Given the description of an element on the screen output the (x, y) to click on. 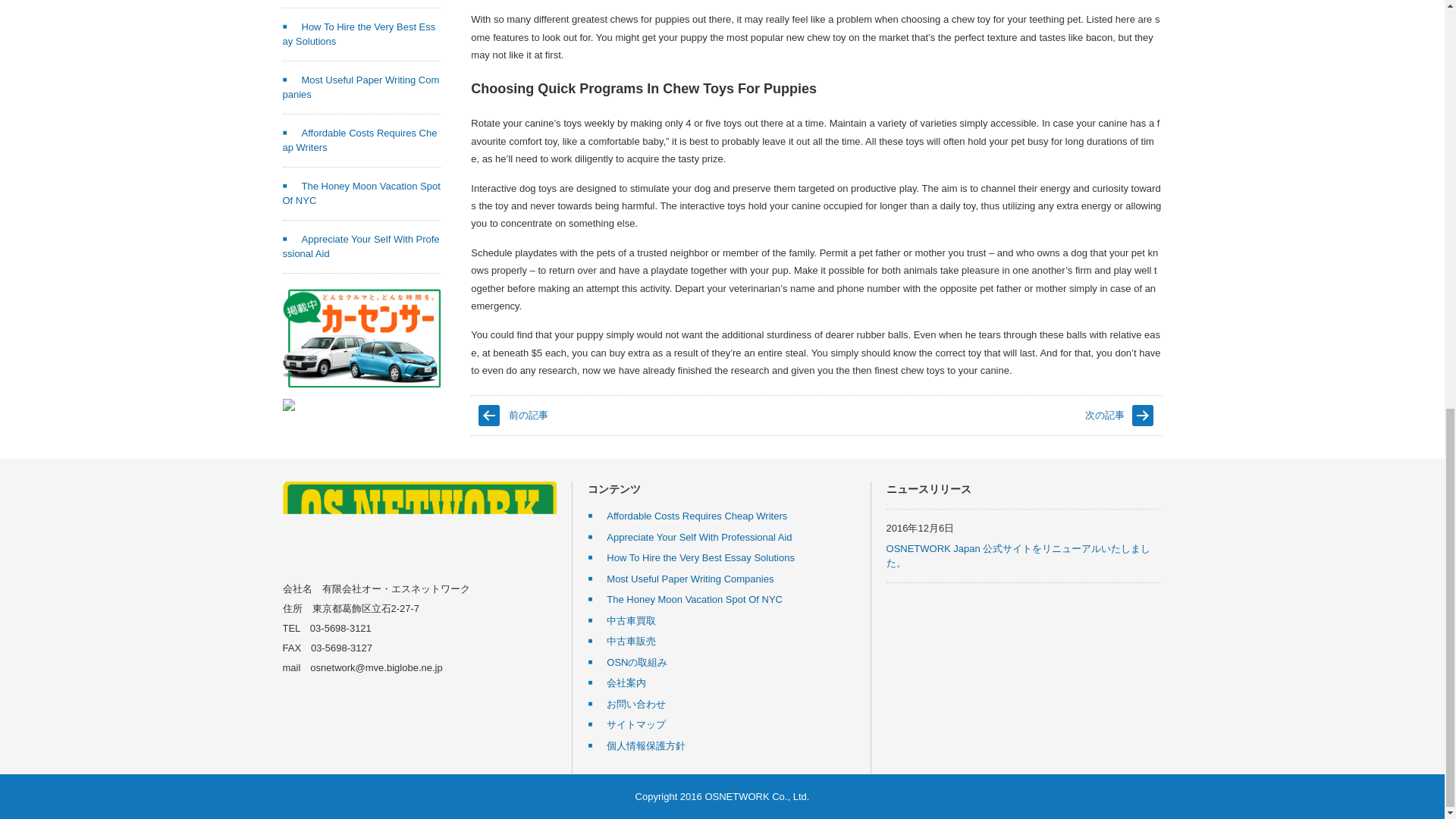
Affordable Costs Requires Cheap Writers (687, 515)
The Honey Moon Vacation Spot Of NYC (360, 193)
Most Useful Paper Writing Companies (360, 87)
How To Hire the Very Best Essay Solutions (358, 34)
Affordable Costs Requires Cheap Writers (359, 140)
Appreciate Your Self With Professional Aid (360, 246)
